Given the description of an element on the screen output the (x, y) to click on. 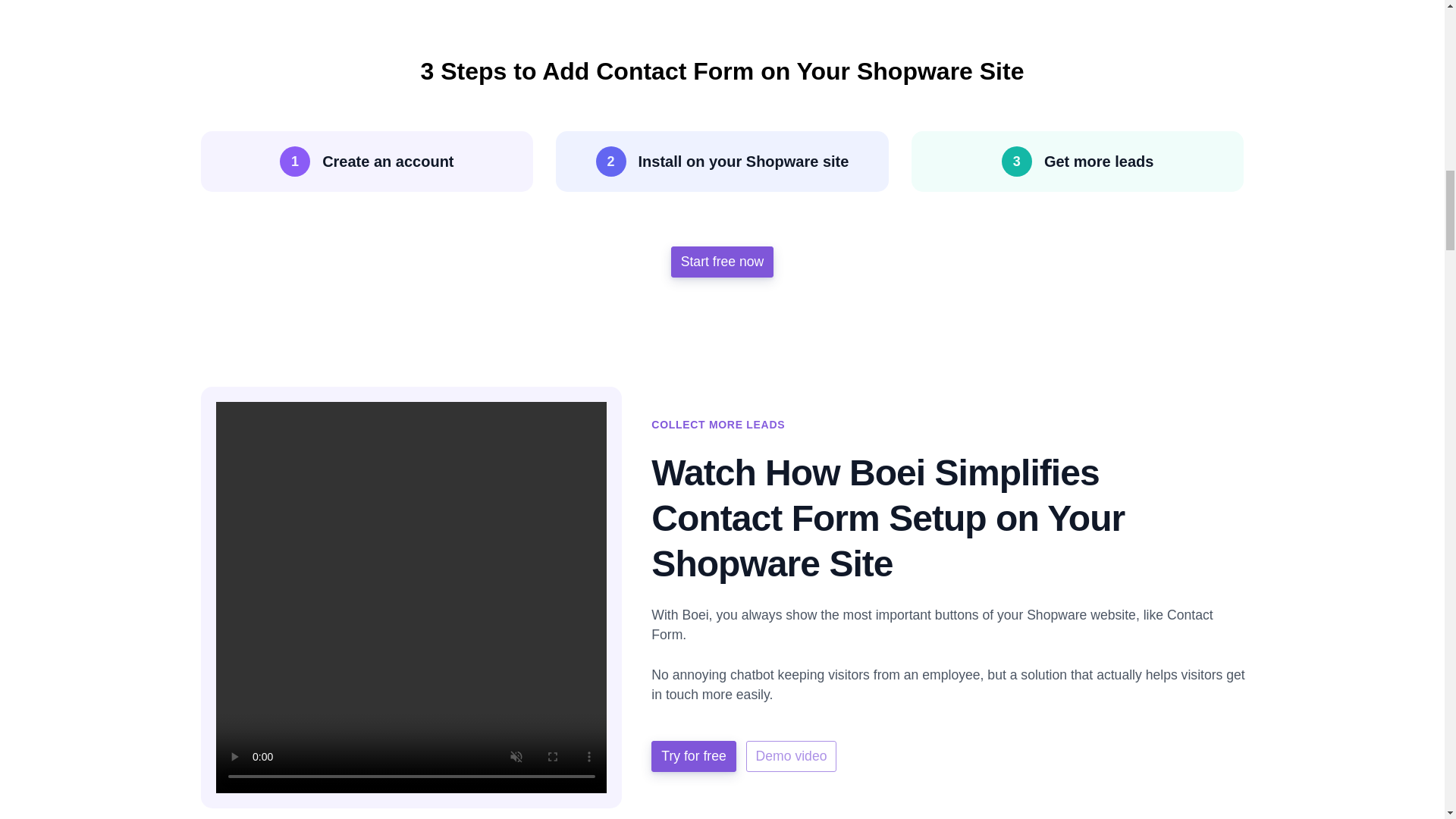
Start free now (722, 261)
Demo video (791, 756)
Try for free (692, 756)
